Given the description of an element on the screen output the (x, y) to click on. 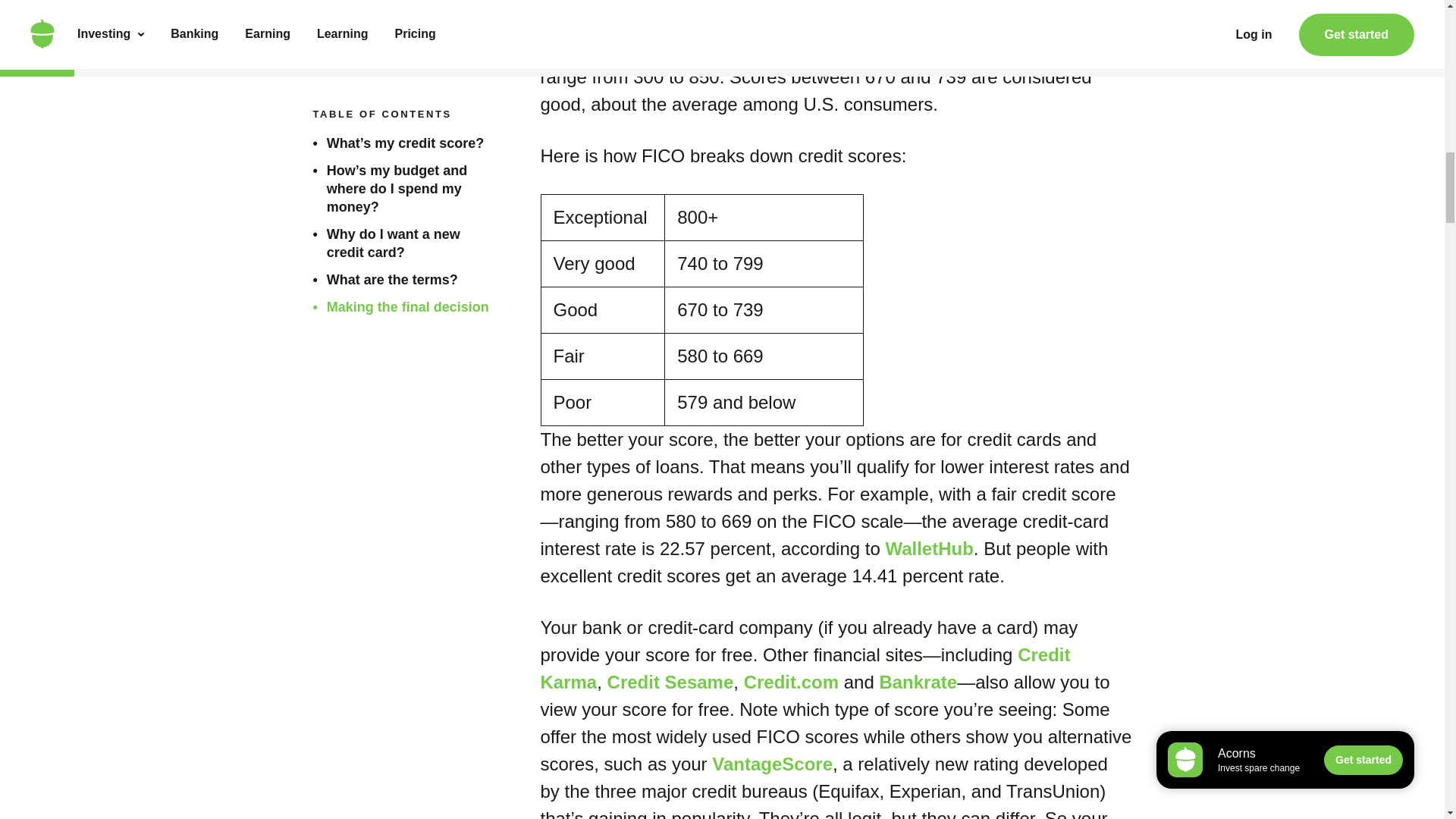
Credit Karma (805, 668)
WalletHub (928, 548)
FICO scores (968, 22)
Credit Sesame (670, 681)
Credit.com (791, 681)
